Given the description of an element on the screen output the (x, y) to click on. 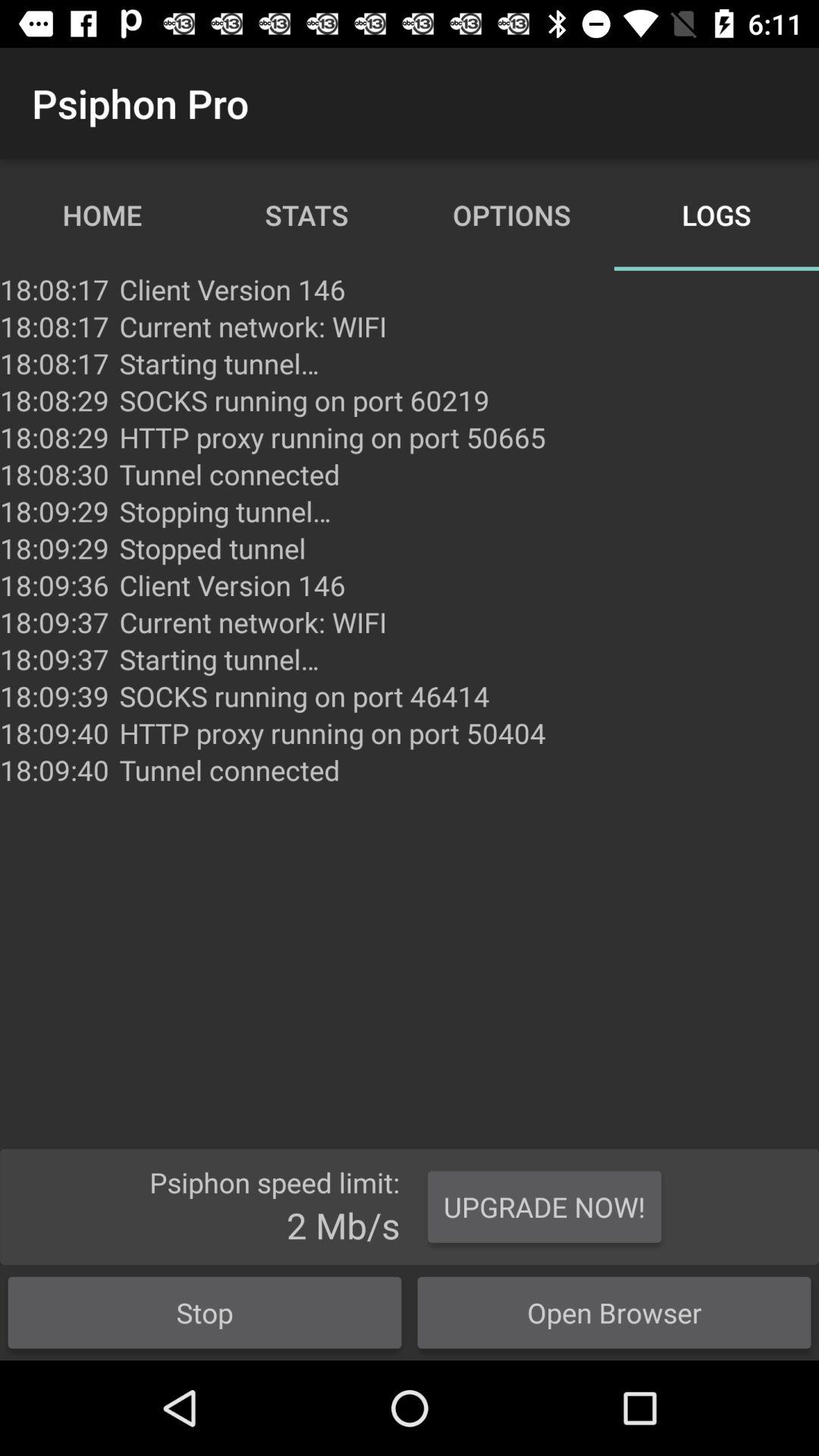
turn on the upgrade now! (544, 1206)
